Given the description of an element on the screen output the (x, y) to click on. 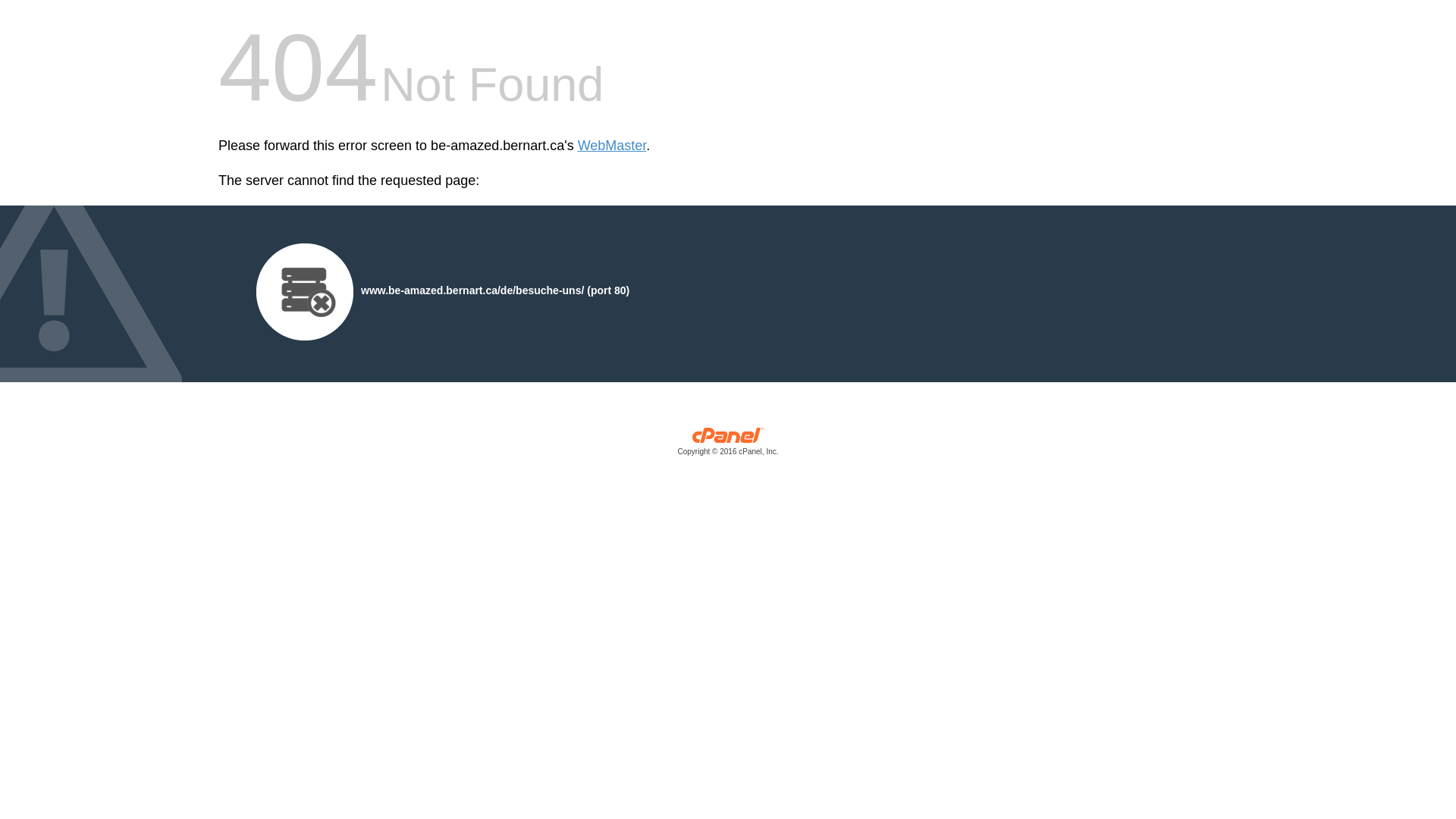
WebMaster Element type: text (611, 145)
